Given the description of an element on the screen output the (x, y) to click on. 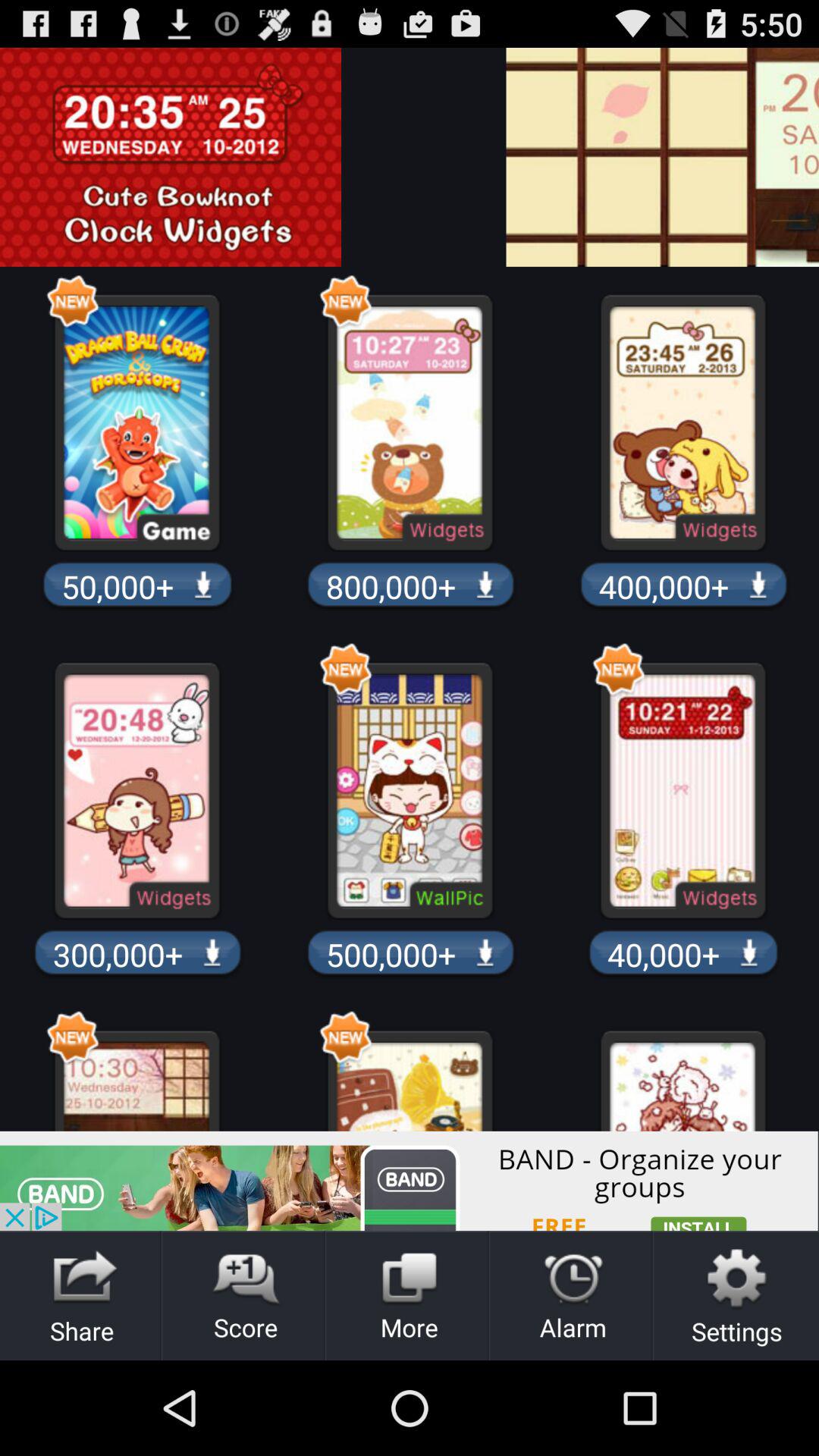
go to the advertising page (808, 156)
